Given the description of an element on the screen output the (x, y) to click on. 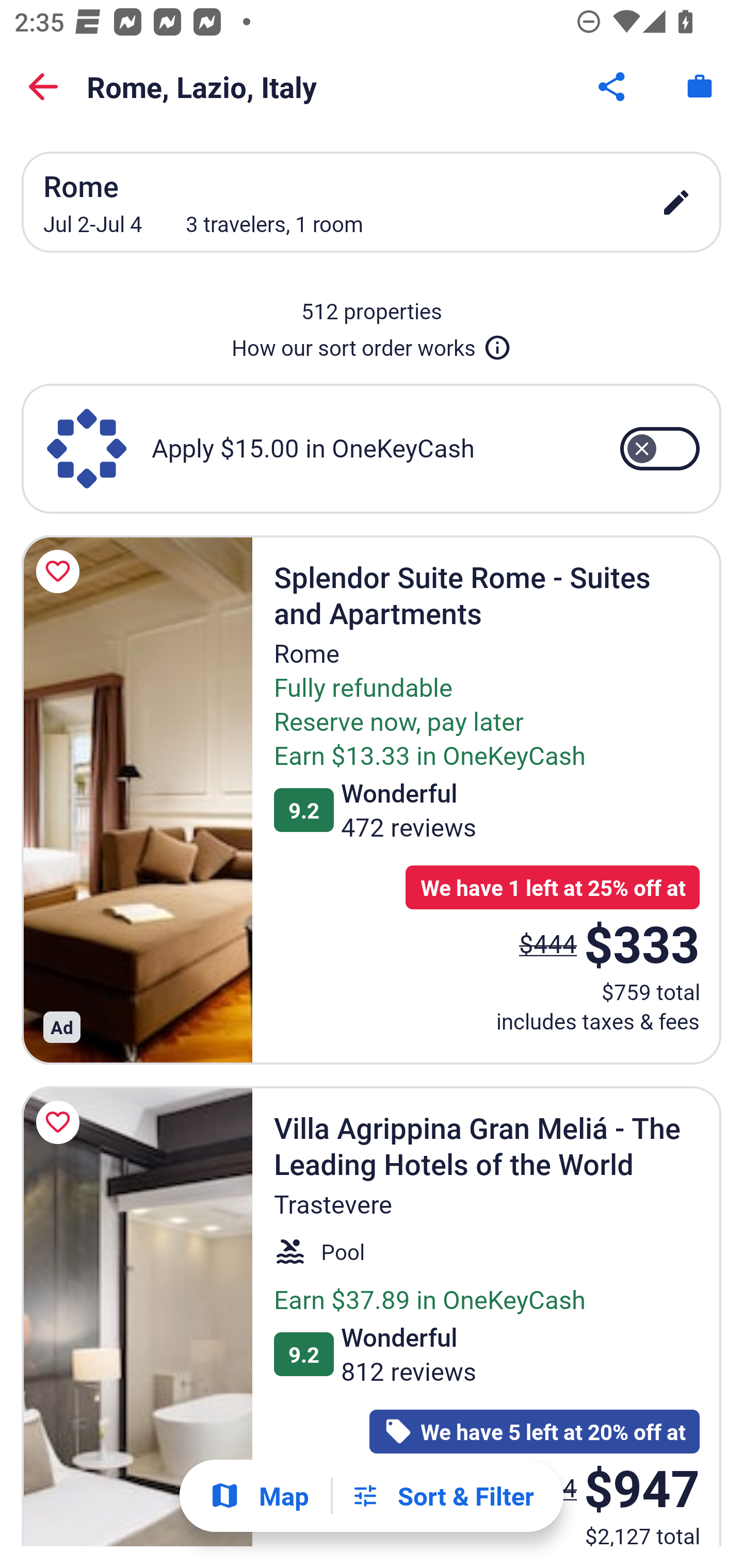
Back (43, 86)
Share Button (612, 86)
Trips. Button (699, 86)
Rome Jul 2-Jul 4 3 travelers, 1 room edit (371, 202)
How our sort order works (371, 344)
Splendor Suite Rome - Suites and Apartments  (136, 799)
$444 The price was $444 (547, 943)
Filters Sort & Filter Filters Button (442, 1495)
Show map Map Show map Button (258, 1495)
